Given the description of an element on the screen output the (x, y) to click on. 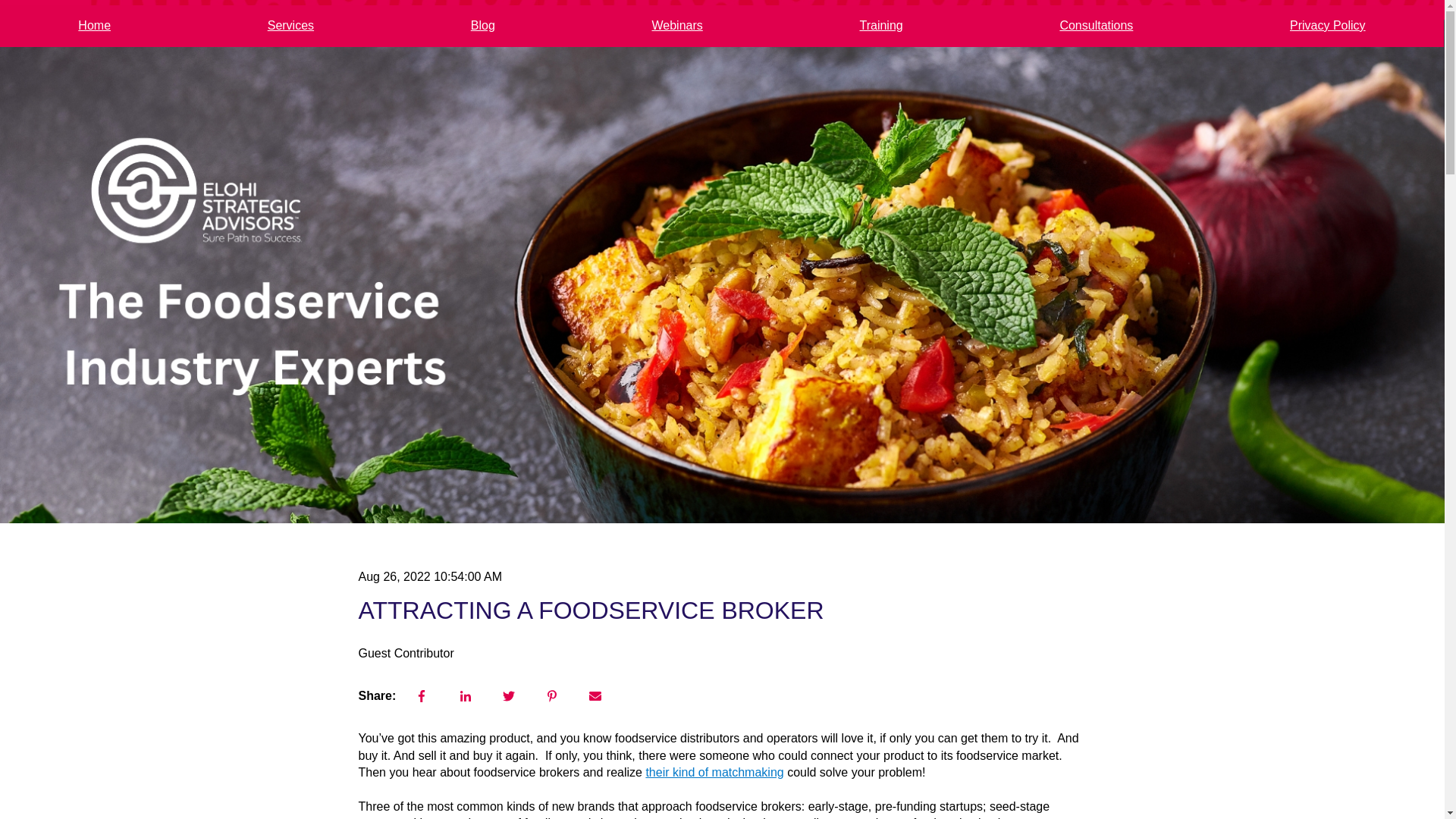
their kind of matchmaking (714, 771)
Consultations (1095, 24)
Blog (482, 24)
Services (290, 24)
Privacy Policy (1327, 24)
Home (94, 24)
Guest Contributor (405, 653)
Training (880, 24)
Webinars (675, 24)
